Given the description of an element on the screen output the (x, y) to click on. 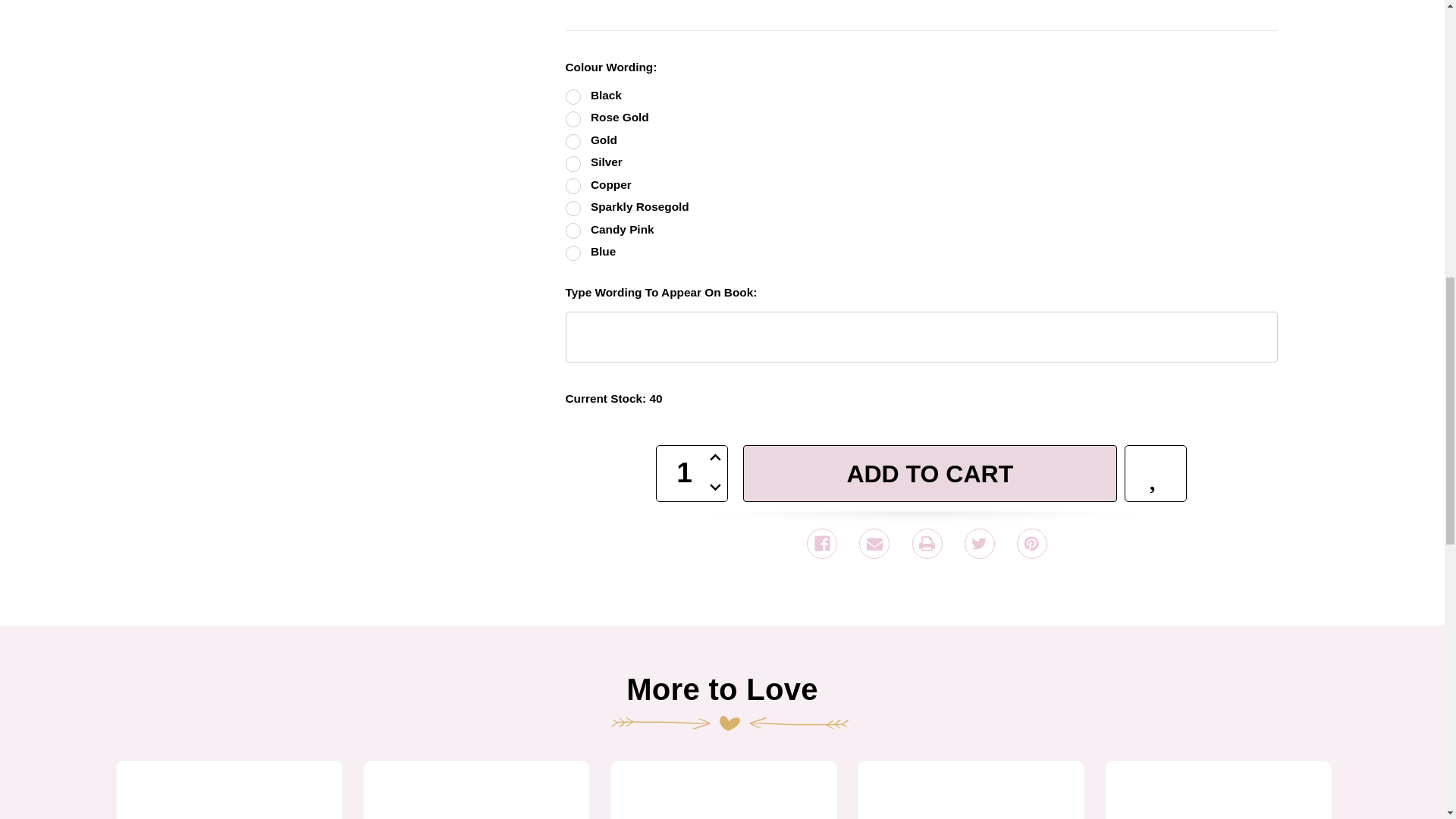
Personalised Veil - Luxe Range (1217, 796)
Hen Party Frame Guest Book - Floral Hen Party (971, 796)
Add to Cart (929, 473)
Personalised Team Bride Hen Party Guest Book (476, 796)
Blush - Hen Party Guest Book (723, 796)
